Given the description of an element on the screen output the (x, y) to click on. 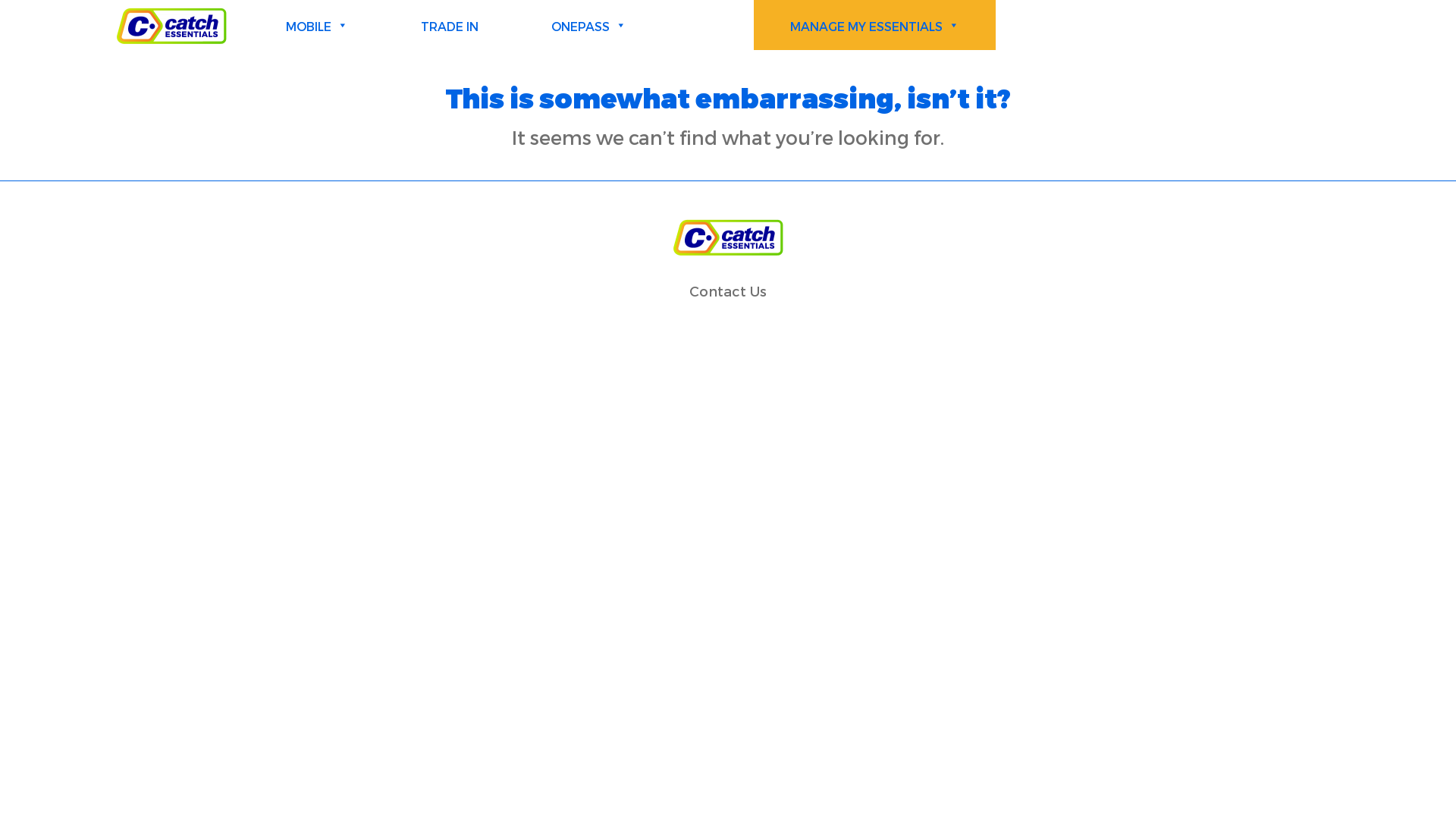
TRADE IN Element type: text (449, 25)
MANAGE MY ESSENTIALS Element type: text (874, 25)
ONEPASS Element type: text (588, 25)
Contact Us Element type: text (727, 290)
MOBILE Element type: text (316, 25)
